Given the description of an element on the screen output the (x, y) to click on. 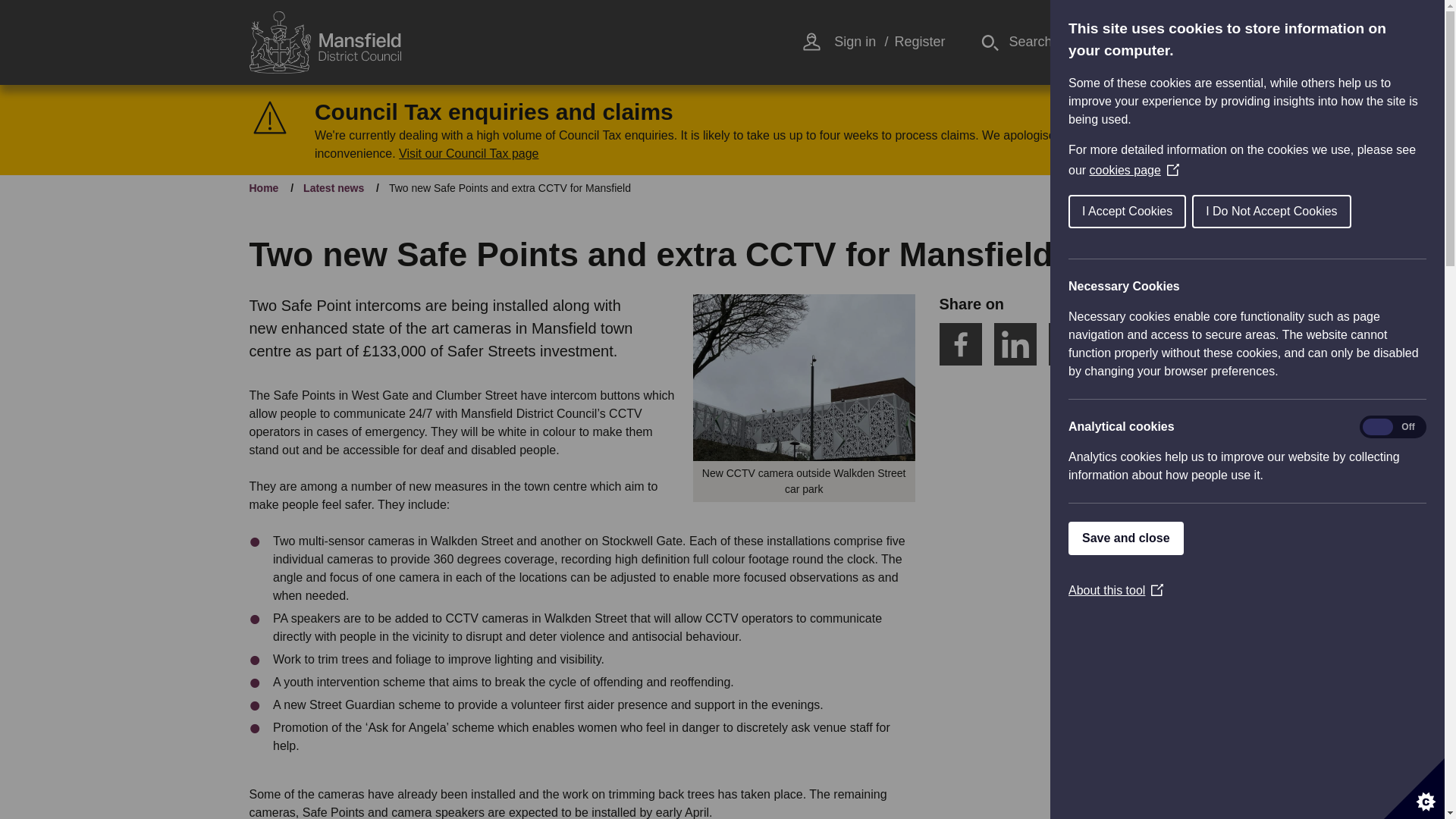
Save and close (1125, 538)
Sign in (855, 41)
Search (1016, 42)
Register (918, 41)
Mansfield District Council Home Page (324, 42)
I Accept Cookies (1129, 211)
I Do Not Accept Cookies (1271, 211)
Mansfield District Council (324, 42)
Menu (1132, 42)
